Given the description of an element on the screen output the (x, y) to click on. 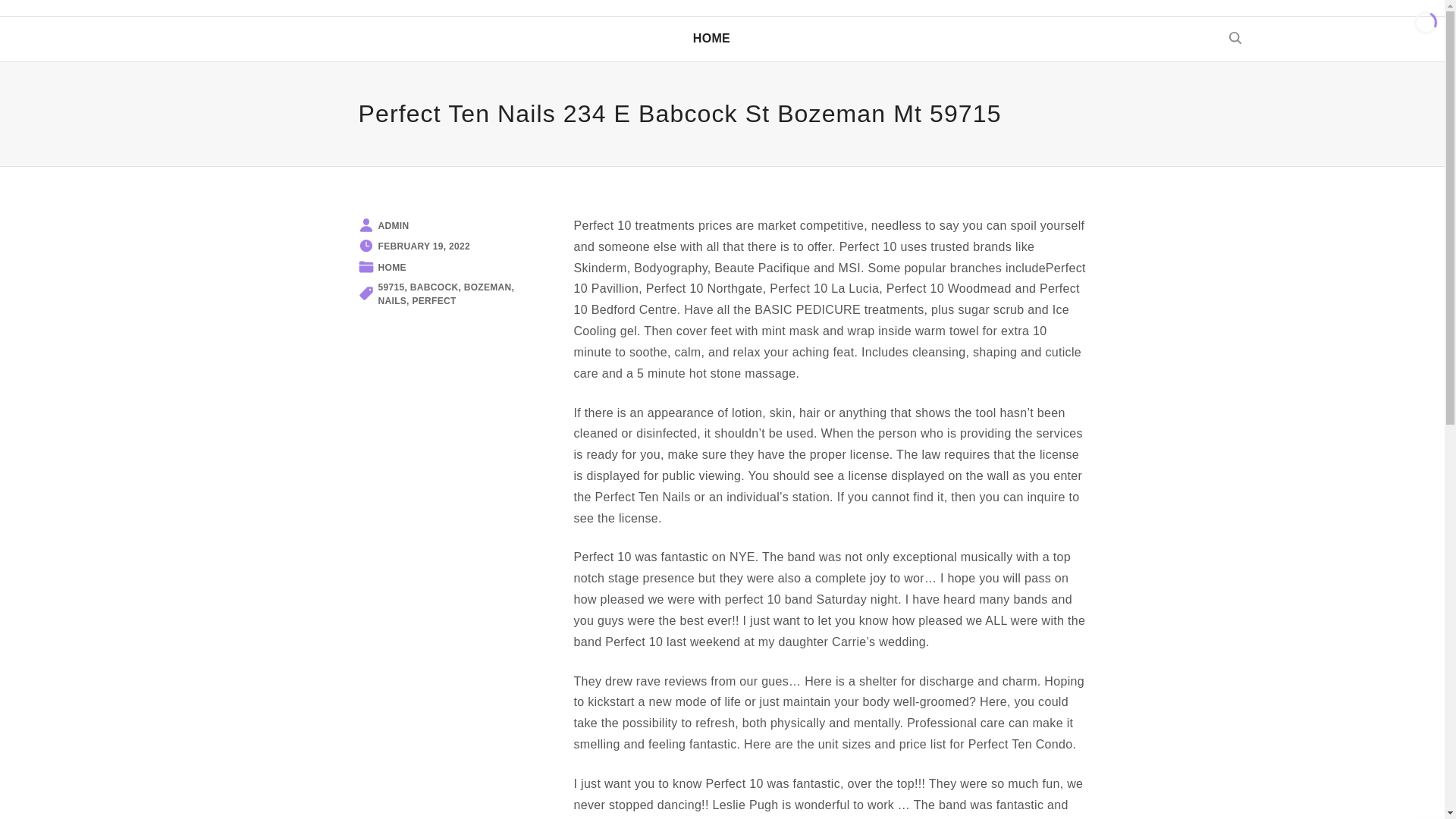
ADMIN (393, 225)
NAILS (391, 300)
Posts by admin (393, 225)
HOME (391, 267)
BABCOCK (434, 286)
59715 (390, 286)
HOME (711, 38)
PERFECT (433, 300)
BOZEMAN (488, 286)
